Given the description of an element on the screen output the (x, y) to click on. 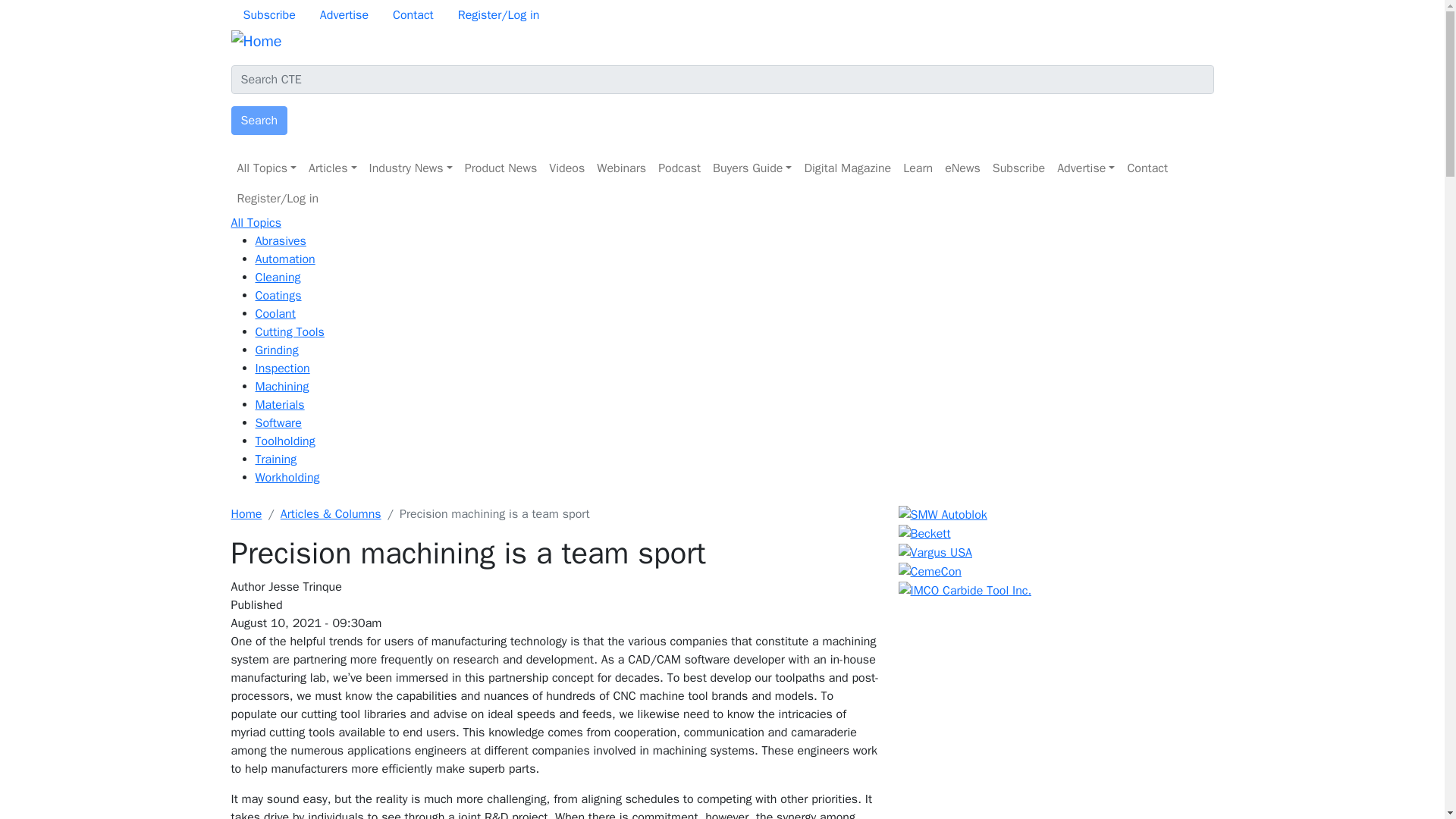
All Topics (266, 168)
Product News (500, 168)
Subscribe (268, 15)
Search (258, 120)
Videos (567, 168)
Webinars (621, 168)
Home (255, 40)
Expand menu Articles (332, 168)
Advertise (1086, 168)
Learn (917, 168)
